Given the description of an element on the screen output the (x, y) to click on. 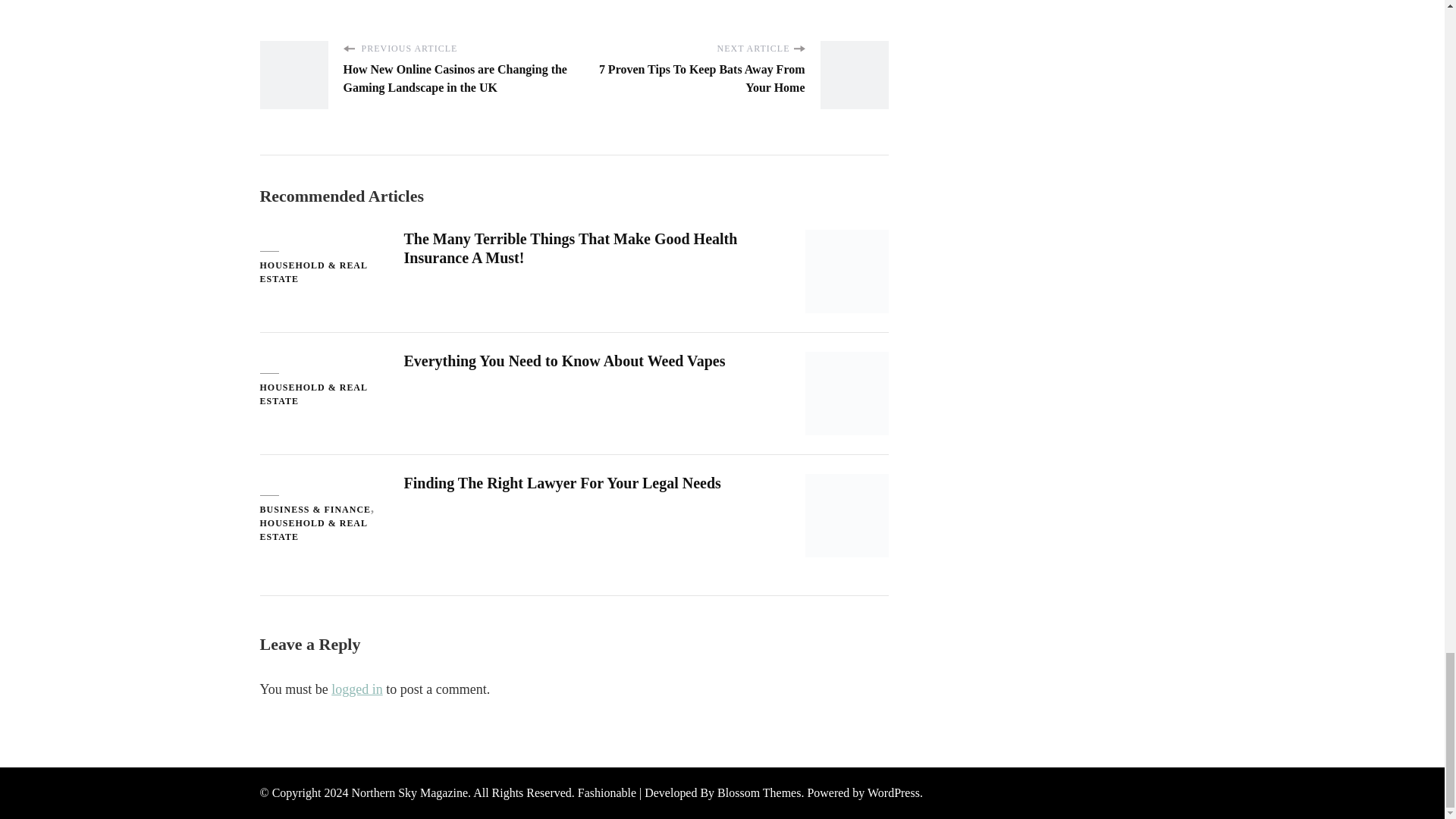
Everything You Need to Know About Weed Vapes (564, 360)
